Given the description of an element on the screen output the (x, y) to click on. 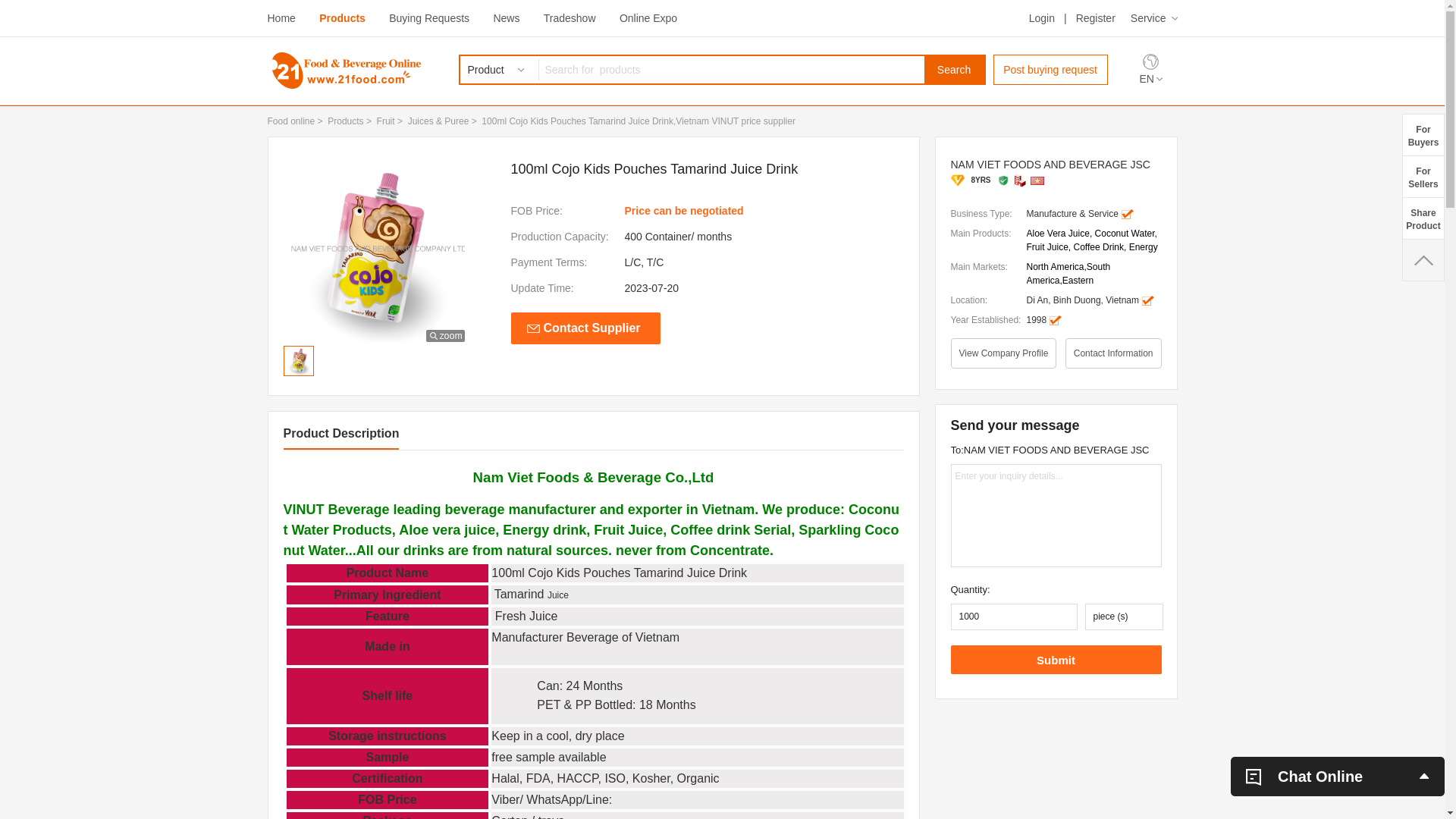
NAM VIET FOODS AND BEVERAGE JSC Element type: text (1055, 164)
Products Element type: text (342, 18)
Service Element type: text (1153, 18)
News Element type: text (505, 18)
  Element type: text (1423, 259)
Search Element type: text (953, 69)
Home Element type: text (280, 18)
Manufacture Element type: hover (1019, 180)
Buying Requests Element type: text (429, 18)
Post buying request Element type: text (1050, 69)
Products Element type: text (345, 121)
Fruit Element type: text (385, 121)
Login Element type: text (1041, 18)
For
Buyers Element type: text (1423, 134)
Vietnam Element type: hover (1037, 180)
Tradeshow Element type: text (569, 18)
View Company Profile Element type: text (1003, 353)
Register Element type: text (1095, 18)
Juices & Puree Element type: text (438, 121)
Online Expo Element type: text (648, 18)
EN Element type: text (1150, 78)
Food online Element type: text (290, 121)
For
Sellers Element type: text (1423, 176)
Submit Element type: text (1055, 659)
Share
Product Element type: text (1423, 217)
Contact Supplier Element type: text (585, 328)
Contact Information Element type: text (1113, 353)
